Given the description of an element on the screen output the (x, y) to click on. 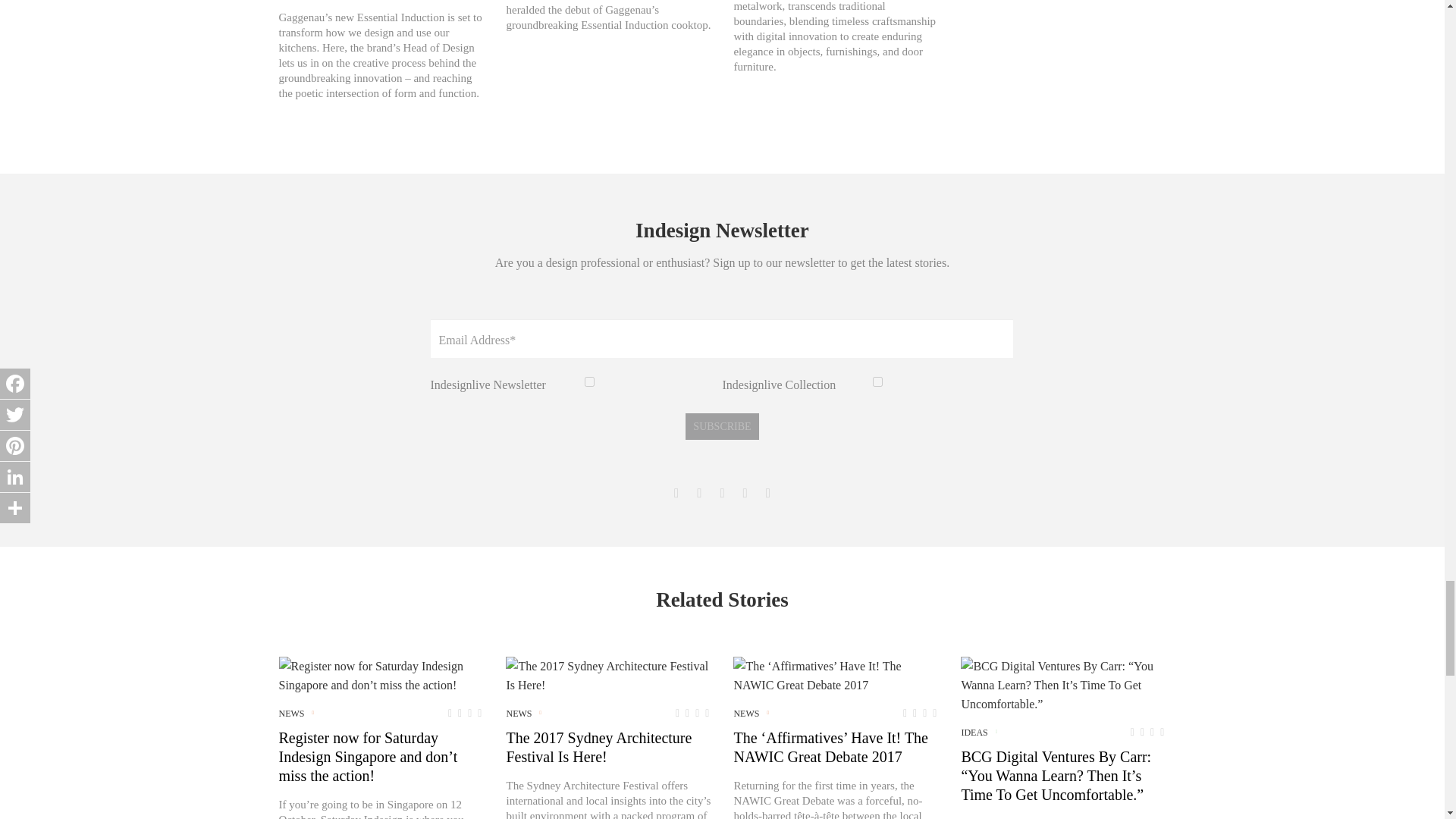
yes (589, 381)
The 2017 Sydney Architecture Festival Is Here! (607, 675)
yes (877, 381)
